Given the description of an element on the screen output the (x, y) to click on. 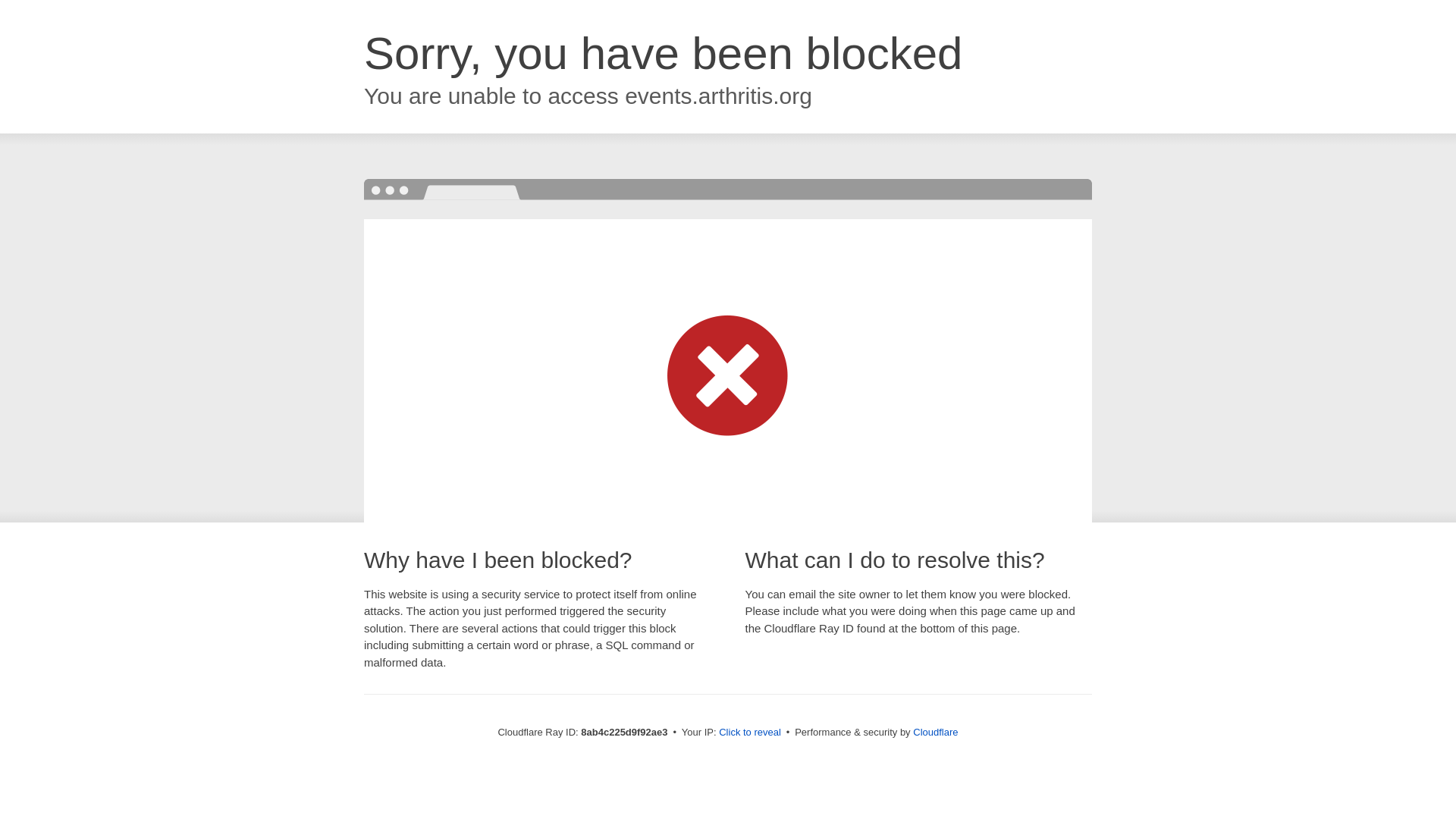
Cloudflare (935, 731)
Click to reveal (749, 732)
